Given the description of an element on the screen output the (x, y) to click on. 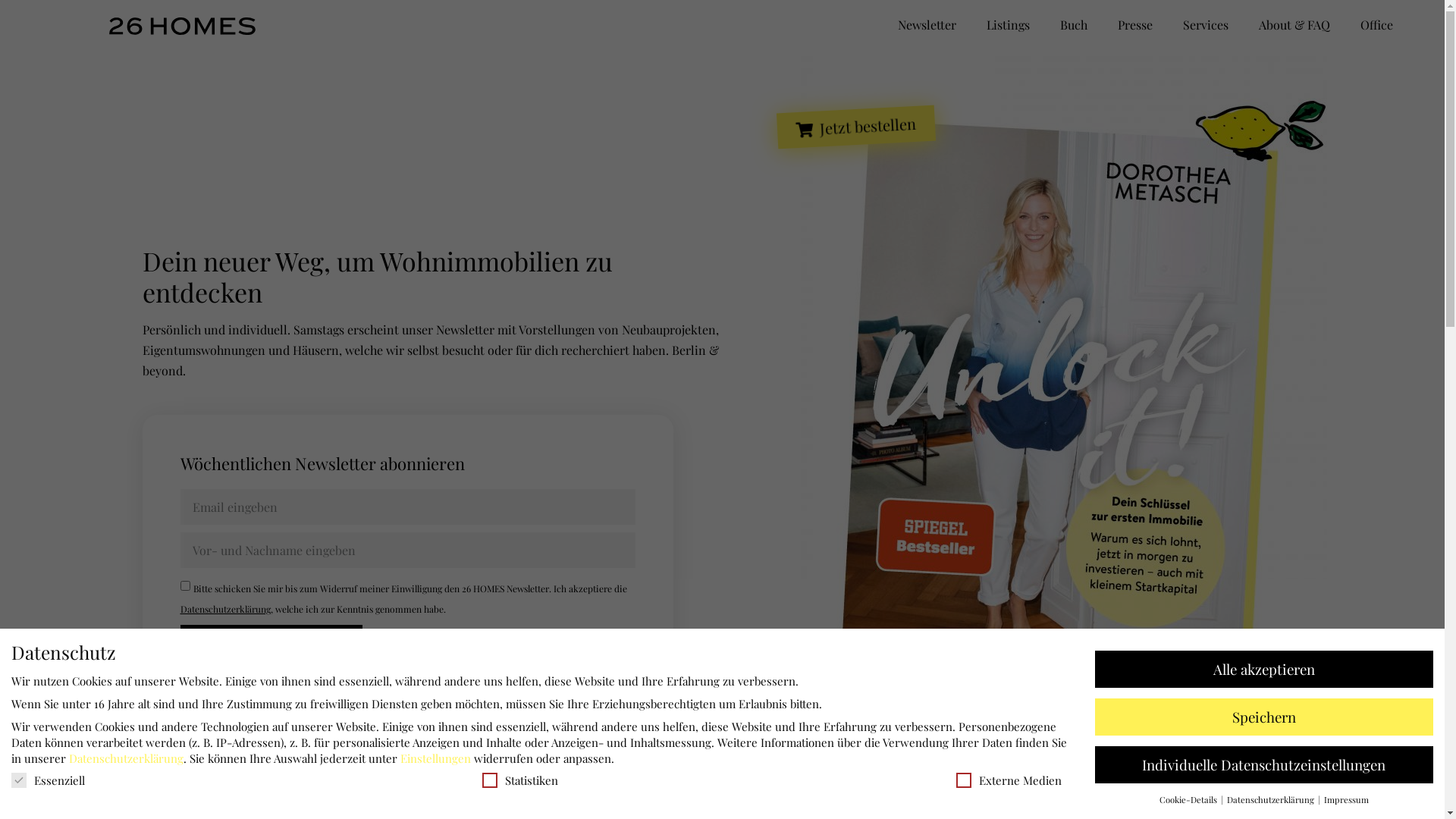
Presse Element type: text (1134, 24)
Individuelle Datenschutzeinstellungen Element type: text (1264, 764)
About & FAQ Element type: text (1294, 24)
Services Element type: text (1205, 24)
Einstellungen Element type: text (435, 757)
Impressum Element type: text (1346, 799)
Buch Element type: text (1073, 24)
Cookie-Details Element type: text (1189, 799)
Office Element type: text (1376, 24)
Newsletter Element type: text (926, 24)
Jetzt bestellen Element type: text (854, 123)
Speichern Element type: text (1264, 716)
Anmelden Element type: text (271, 642)
Listings Element type: text (1007, 24)
Alle akzeptieren Element type: text (1264, 668)
